Given the description of an element on the screen output the (x, y) to click on. 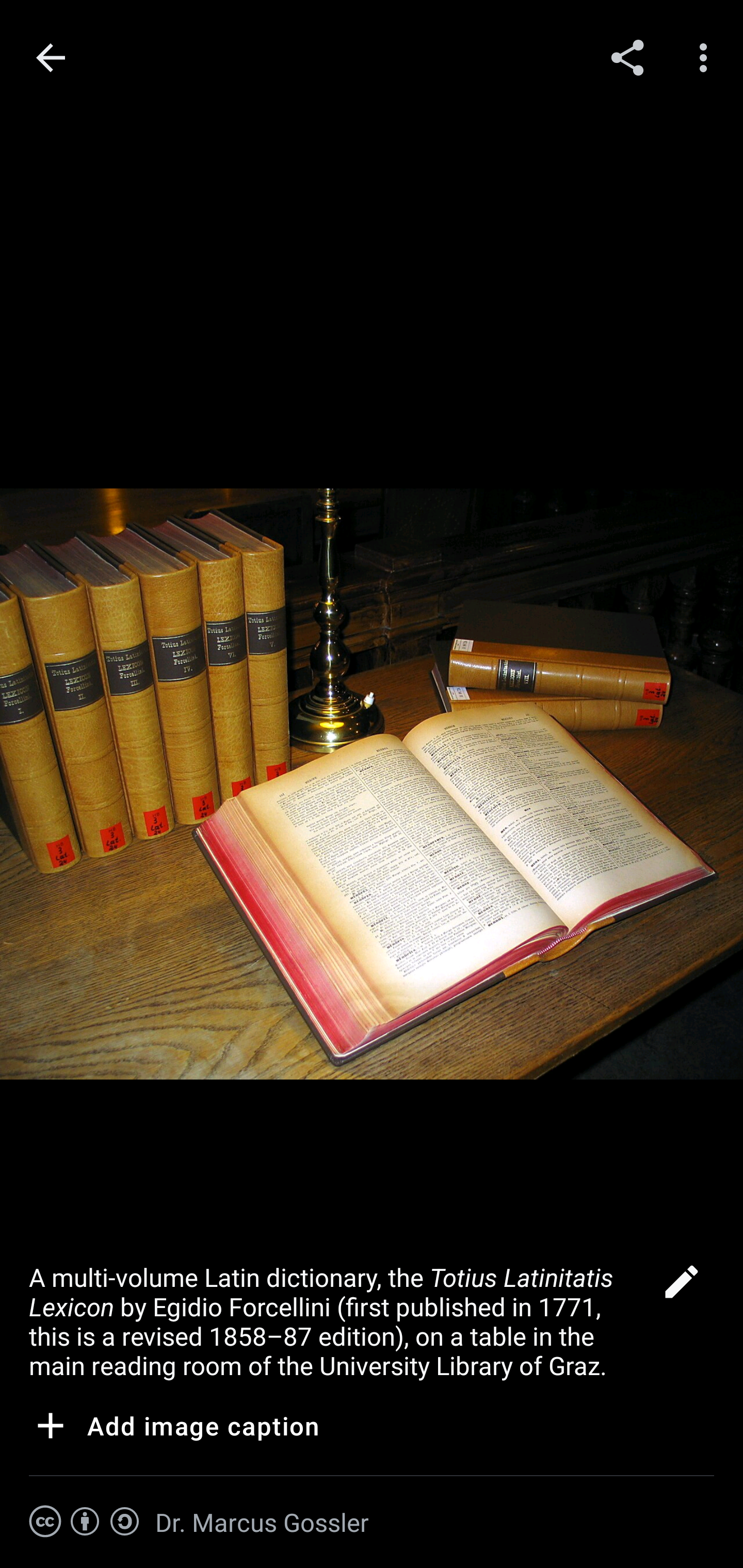
Navigate up (50, 57)
Share (626, 57)
More options (706, 57)
Edit image caption (681, 1286)
Add image caption (174, 1428)
CC BY-SA 3.0 (84, 1521)
